Given the description of an element on the screen output the (x, y) to click on. 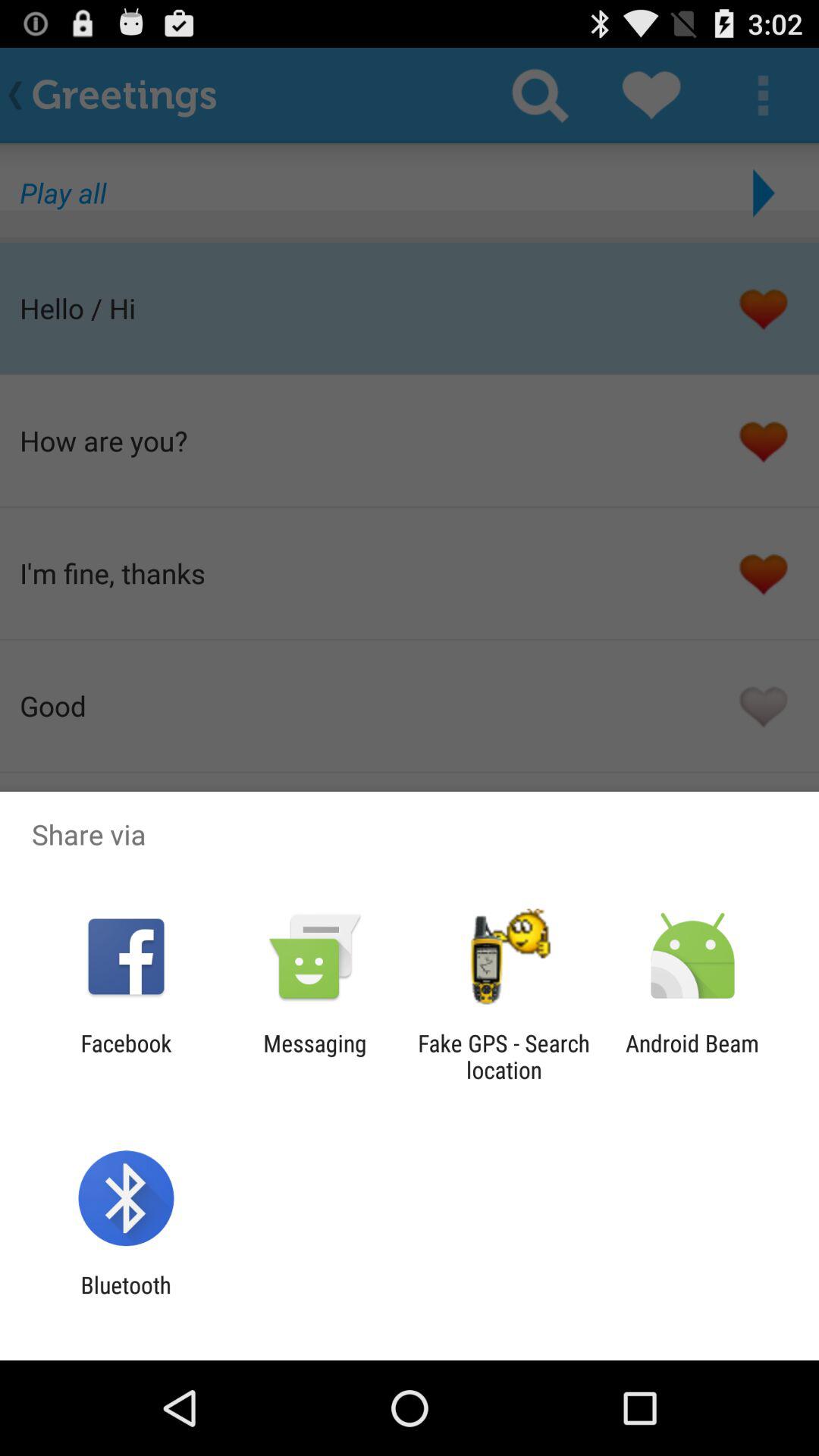
turn on the android beam icon (692, 1056)
